Given the description of an element on the screen output the (x, y) to click on. 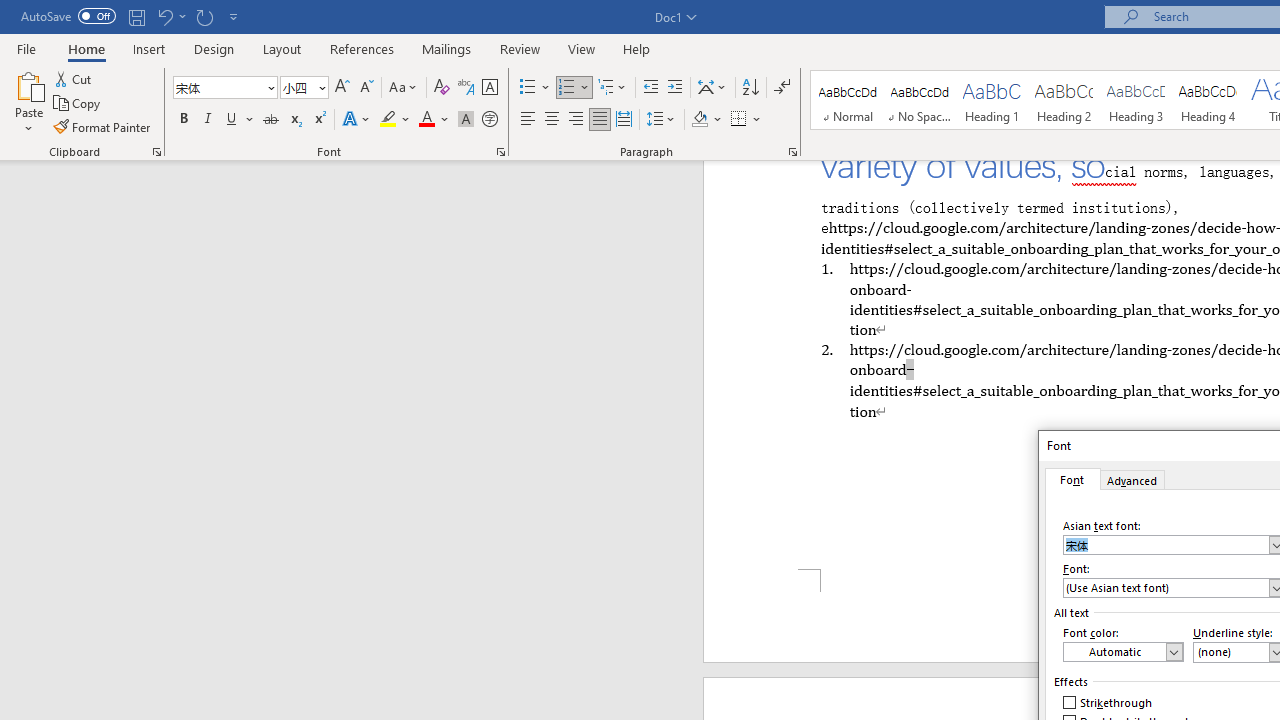
Justify (599, 119)
Character Border (489, 87)
Strikethrough (1108, 702)
AutoSave (68, 16)
Format Painter (103, 126)
Numbering (566, 87)
Italic (207, 119)
Heading 4 (1208, 100)
Align Right (575, 119)
Borders (739, 119)
Bullets (535, 87)
Customize Quick Access Toolbar (234, 15)
RichEdit Control (1166, 587)
Undo Apply Quick Style (164, 15)
Font (218, 87)
